Given the description of an element on the screen output the (x, y) to click on. 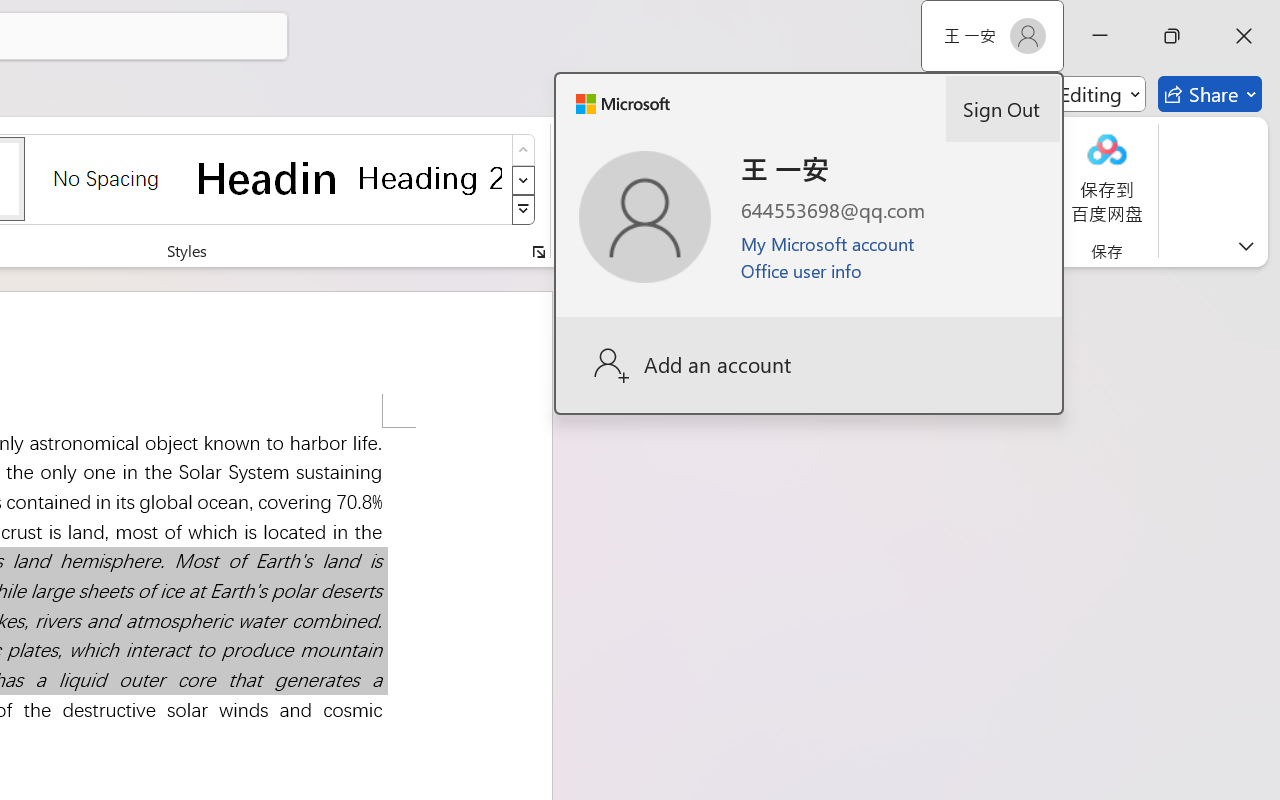
Styles... (538, 252)
Heading 1 (267, 178)
Row up (523, 150)
Heading 2 (429, 178)
Styles (523, 209)
Row Down (523, 180)
